Given the description of an element on the screen output the (x, y) to click on. 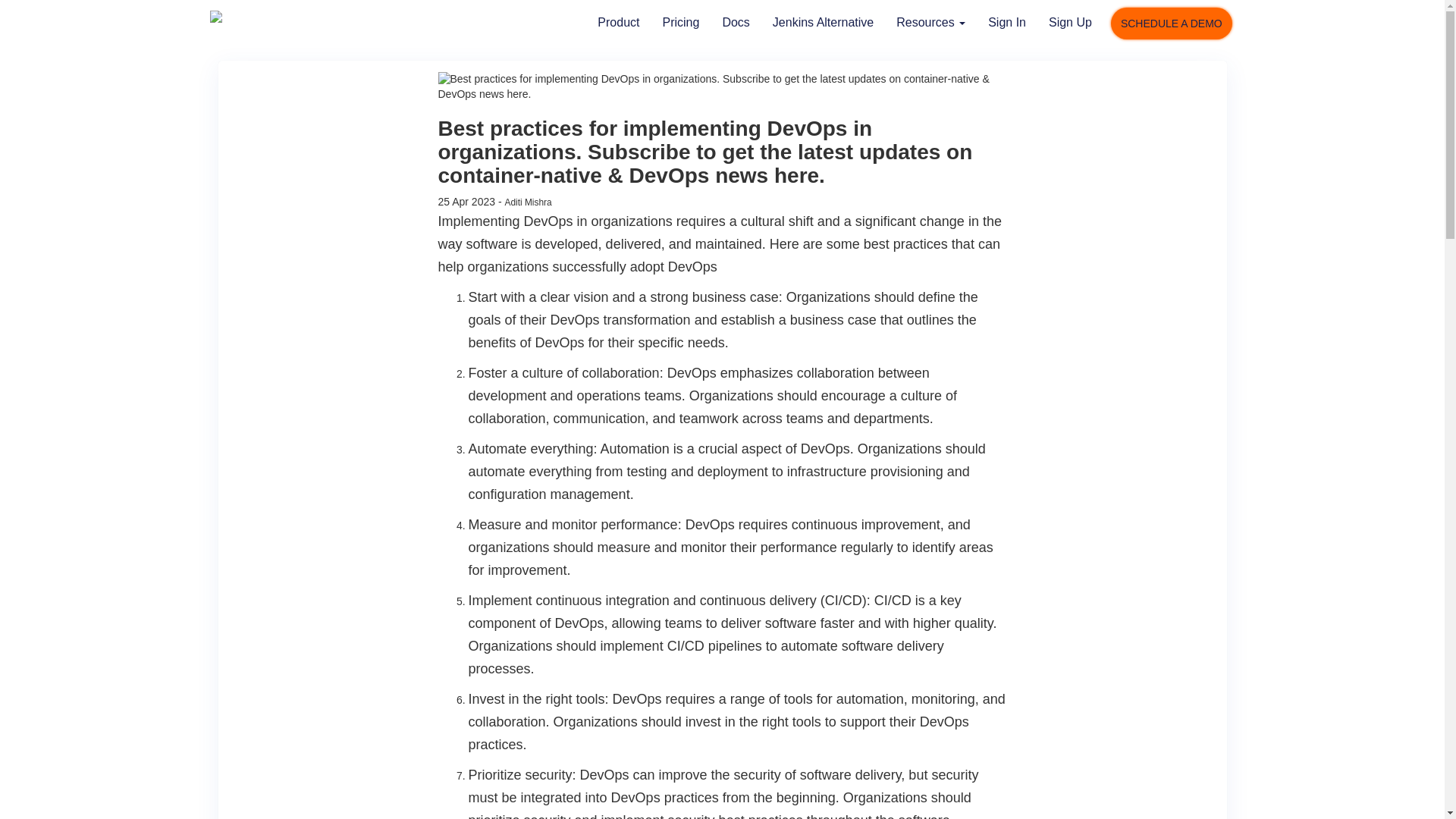
Resources (930, 24)
Jenkins Alternative (823, 24)
SCHEDULE A DEMO (1170, 23)
Product (618, 24)
Sign Up (1069, 24)
Pricing (680, 24)
Docs (735, 24)
Sign In (1006, 24)
